Given the description of an element on the screen output the (x, y) to click on. 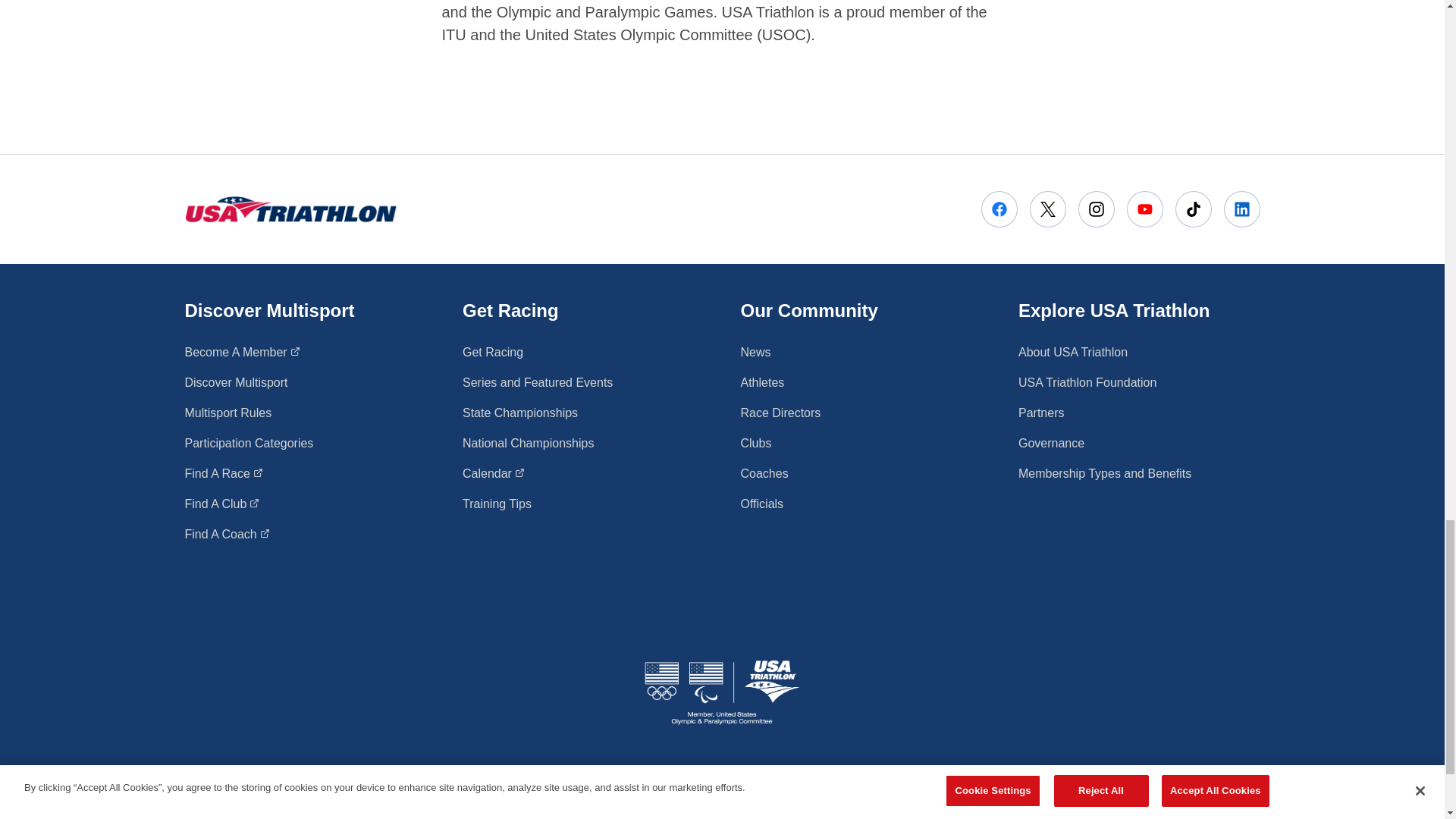
Multisport Rules (228, 413)
Race Directors (780, 413)
News (754, 352)
Go to LinkedIn (1242, 208)
Series and Featured Events (537, 382)
Go to Tiktok (226, 534)
Go to Twitter (1192, 208)
Go to Instagram (223, 474)
Athletes (1047, 208)
Participation Categories (1096, 208)
